Given the description of an element on the screen output the (x, y) to click on. 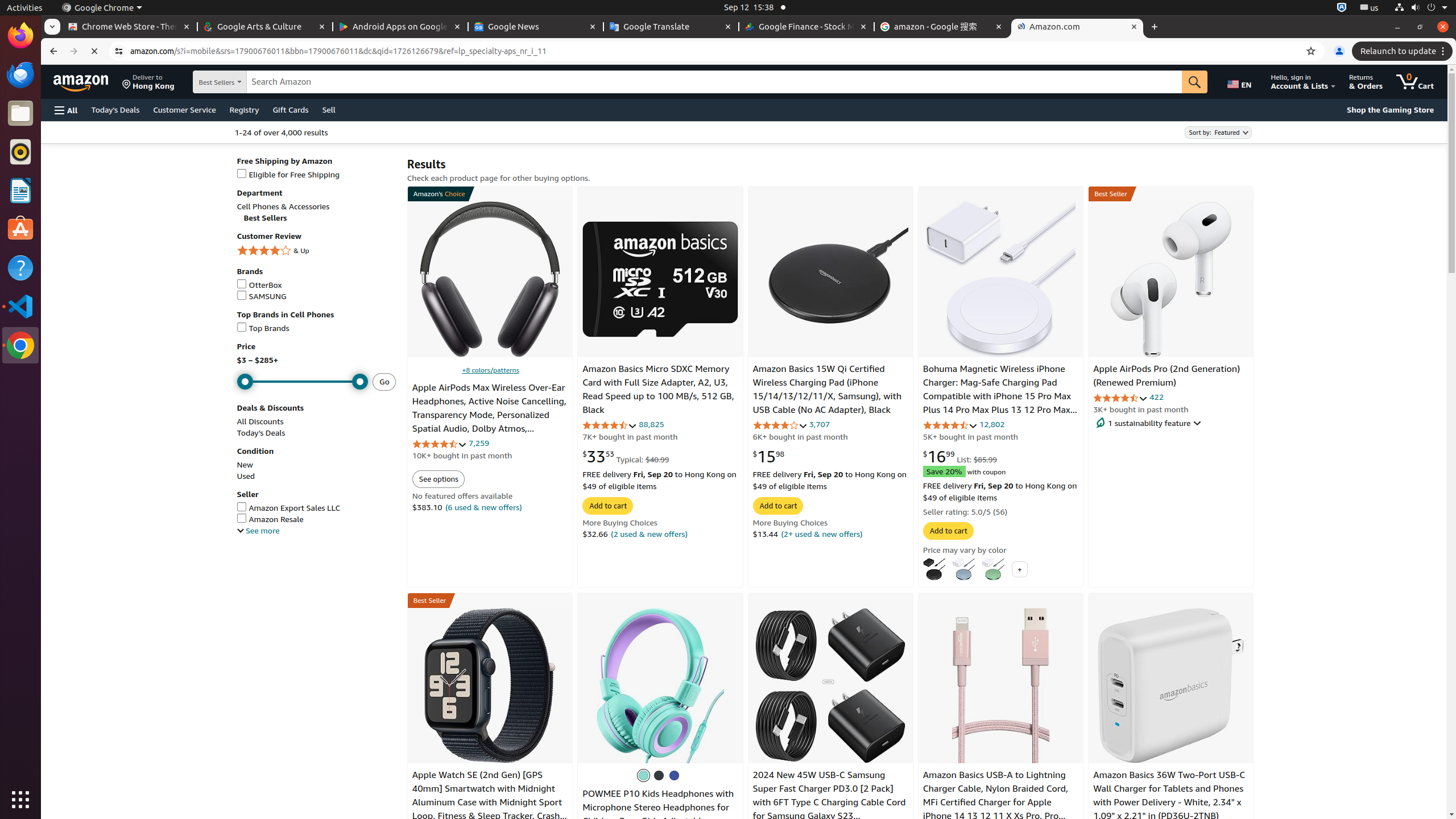
Amazon Element type: link (82, 81)
4 Stars & Up Element type: link (315, 250)
Green Element type: push-button (643, 775)
Featured Element type: menu-item (1217, 132)
4.6 out of 5 stars Element type: push-button (438, 443)
